Given the description of an element on the screen output the (x, y) to click on. 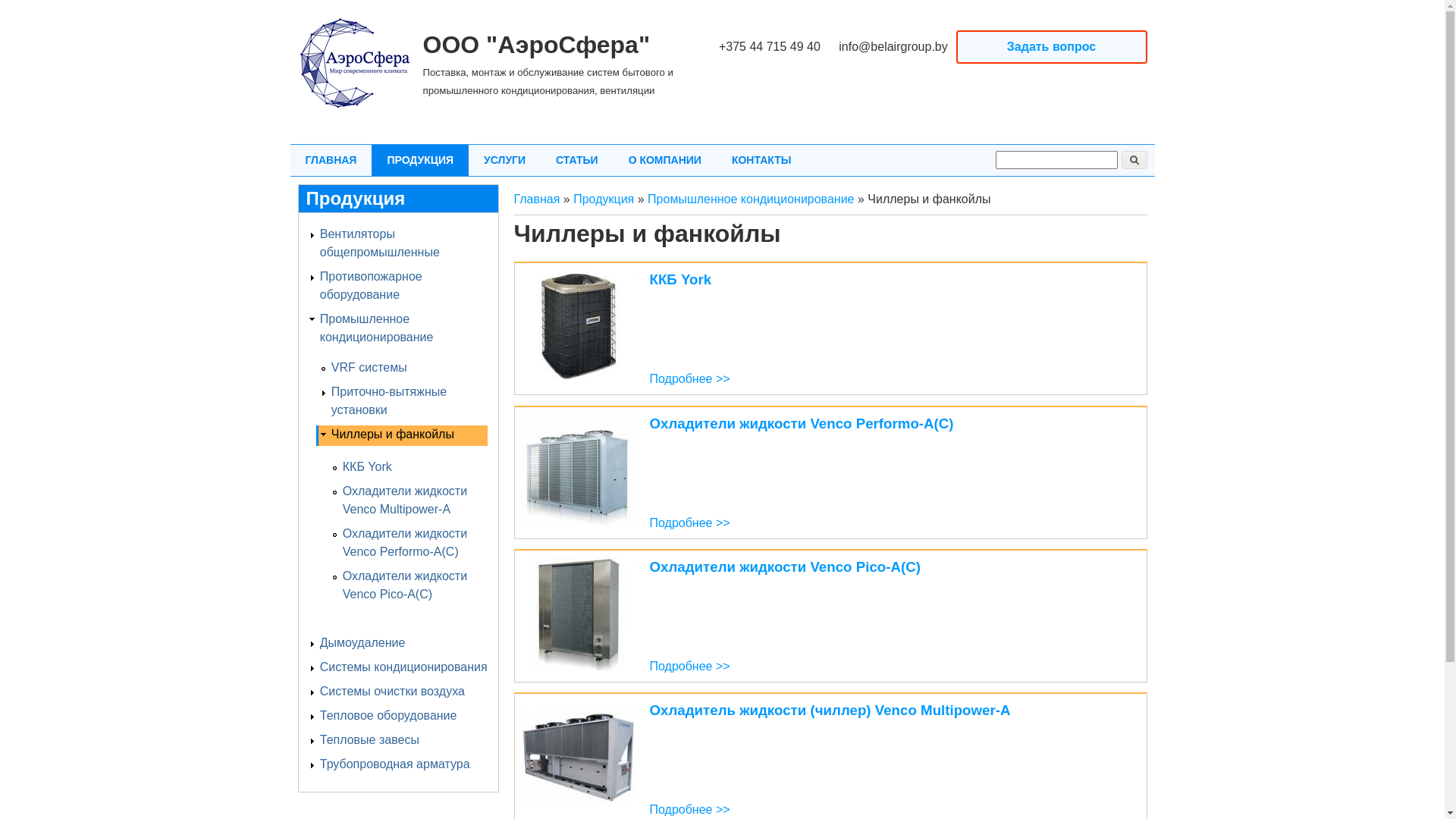
info@belairgroup.by Element type: text (892, 46)
+375 44 715 49 40 Element type: text (769, 46)
